Given the description of an element on the screen output the (x, y) to click on. 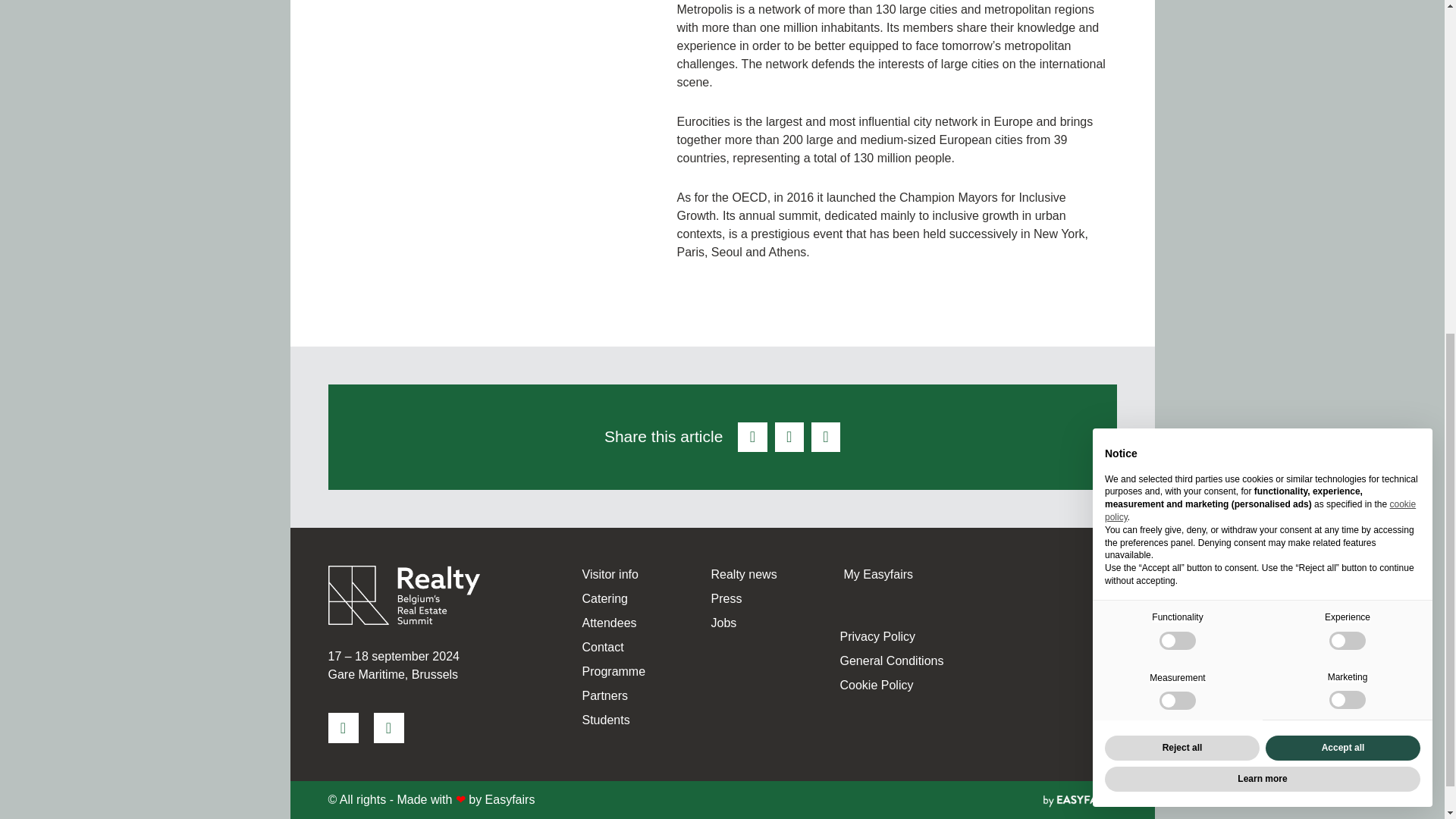
false (1347, 56)
false (1176, 56)
false (1176, 116)
false (1347, 116)
